Given the description of an element on the screen output the (x, y) to click on. 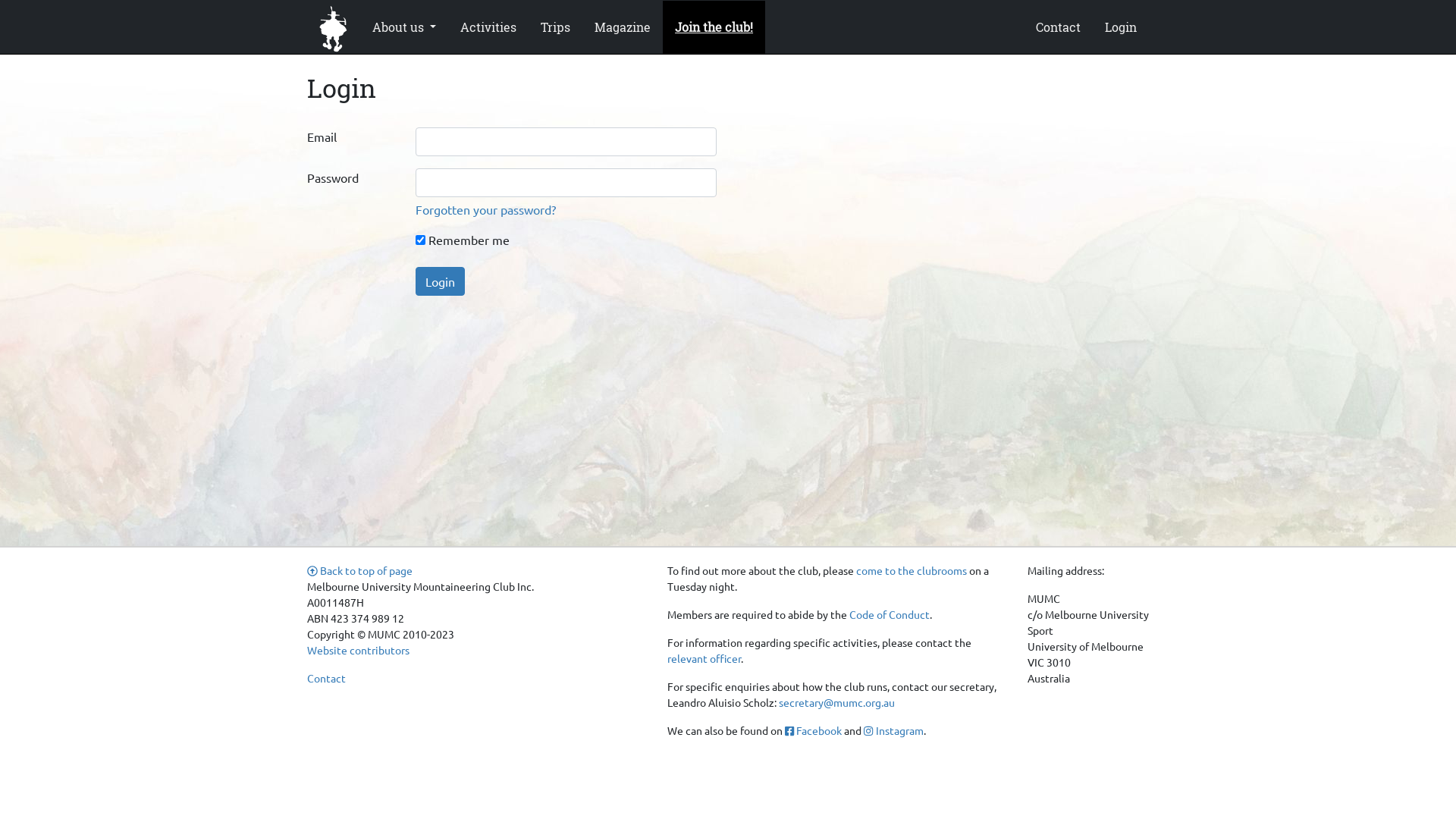
Contact Element type: text (1057, 26)
Login Element type: text (439, 280)
Magazine Element type: text (622, 26)
relevant officer Element type: text (703, 658)
About us Element type: text (404, 26)
Login Element type: text (1120, 26)
Back to top of page Element type: text (359, 570)
Code of Conduct Element type: text (889, 614)
Home page Element type: hover (333, 26)
Instagram Element type: text (892, 730)
Forgotten your password? Element type: text (485, 208)
Trips Element type: text (555, 26)
come to the clubrooms Element type: text (911, 570)
secretary@mumc.org.au Element type: text (836, 702)
Contact Element type: text (326, 677)
Website contributors Element type: text (358, 649)
Facebook Element type: text (812, 730)
Join the club! Element type: text (713, 26)
Activities Element type: text (488, 26)
